Given the description of an element on the screen output the (x, y) to click on. 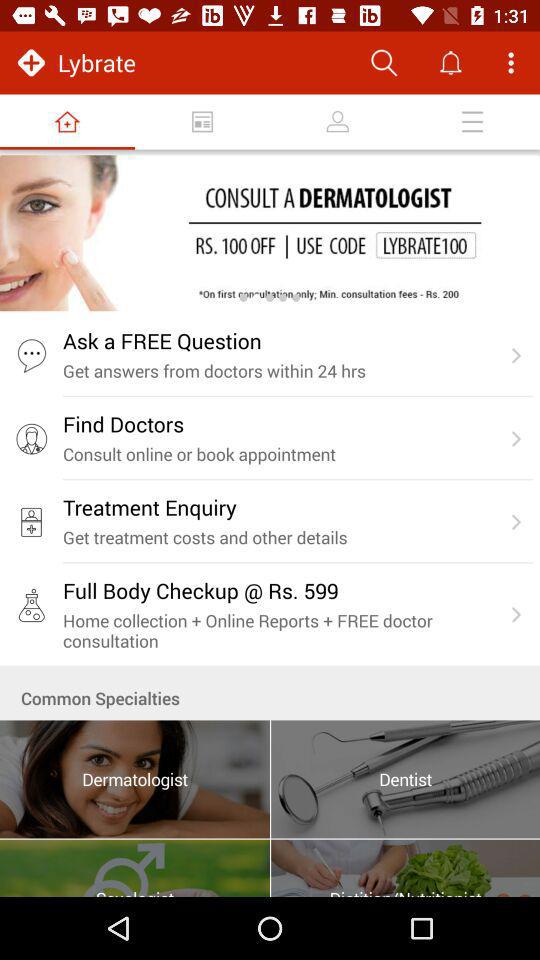
go to advertisement (270, 233)
